Given the description of an element on the screen output the (x, y) to click on. 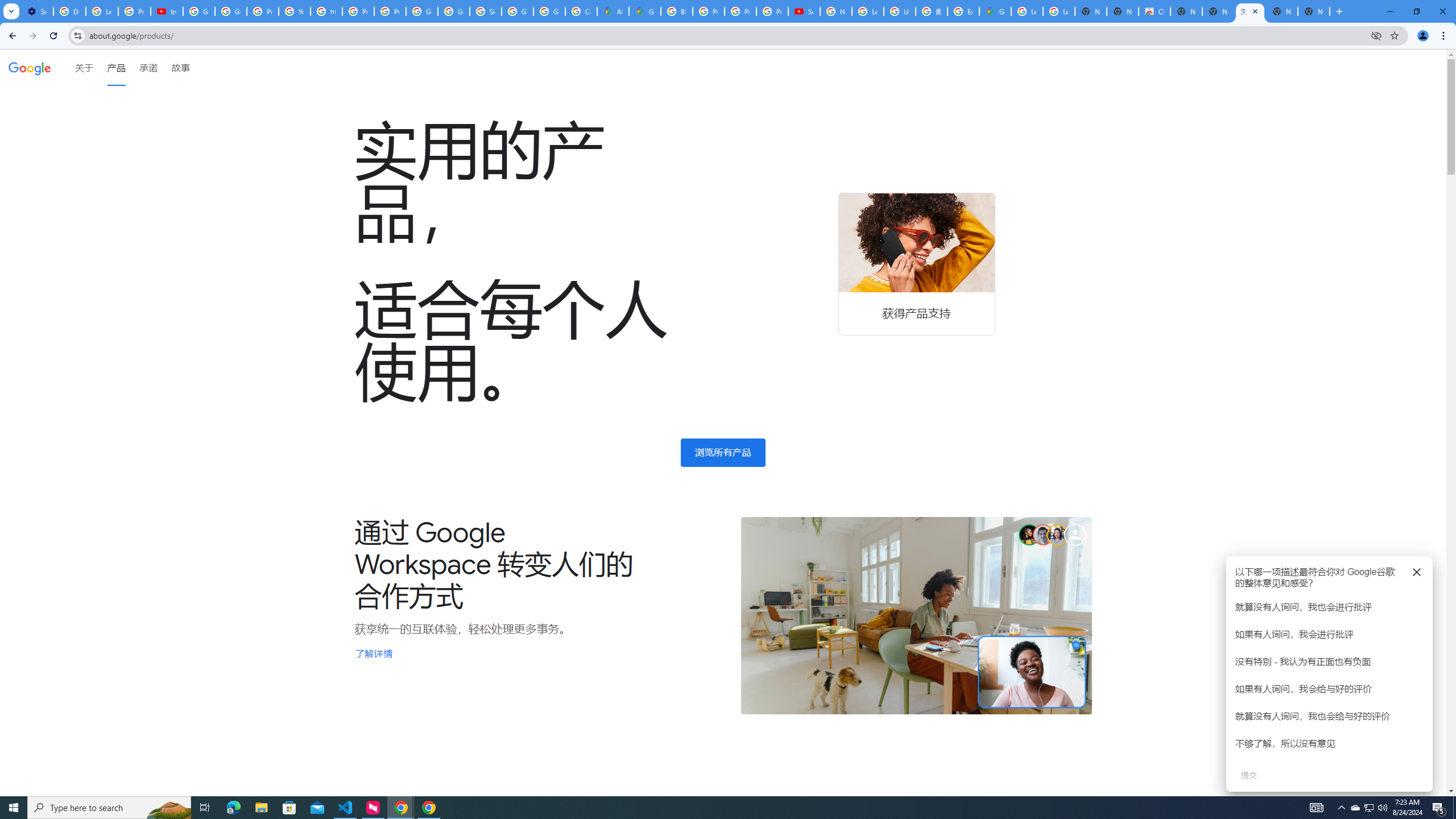
Google Account Help (198, 11)
Privacy Help Center - Policies Help (358, 11)
Create your Google Account (581, 11)
Subscriptions - YouTube (804, 11)
YouTube (294, 11)
